Given the description of an element on the screen output the (x, y) to click on. 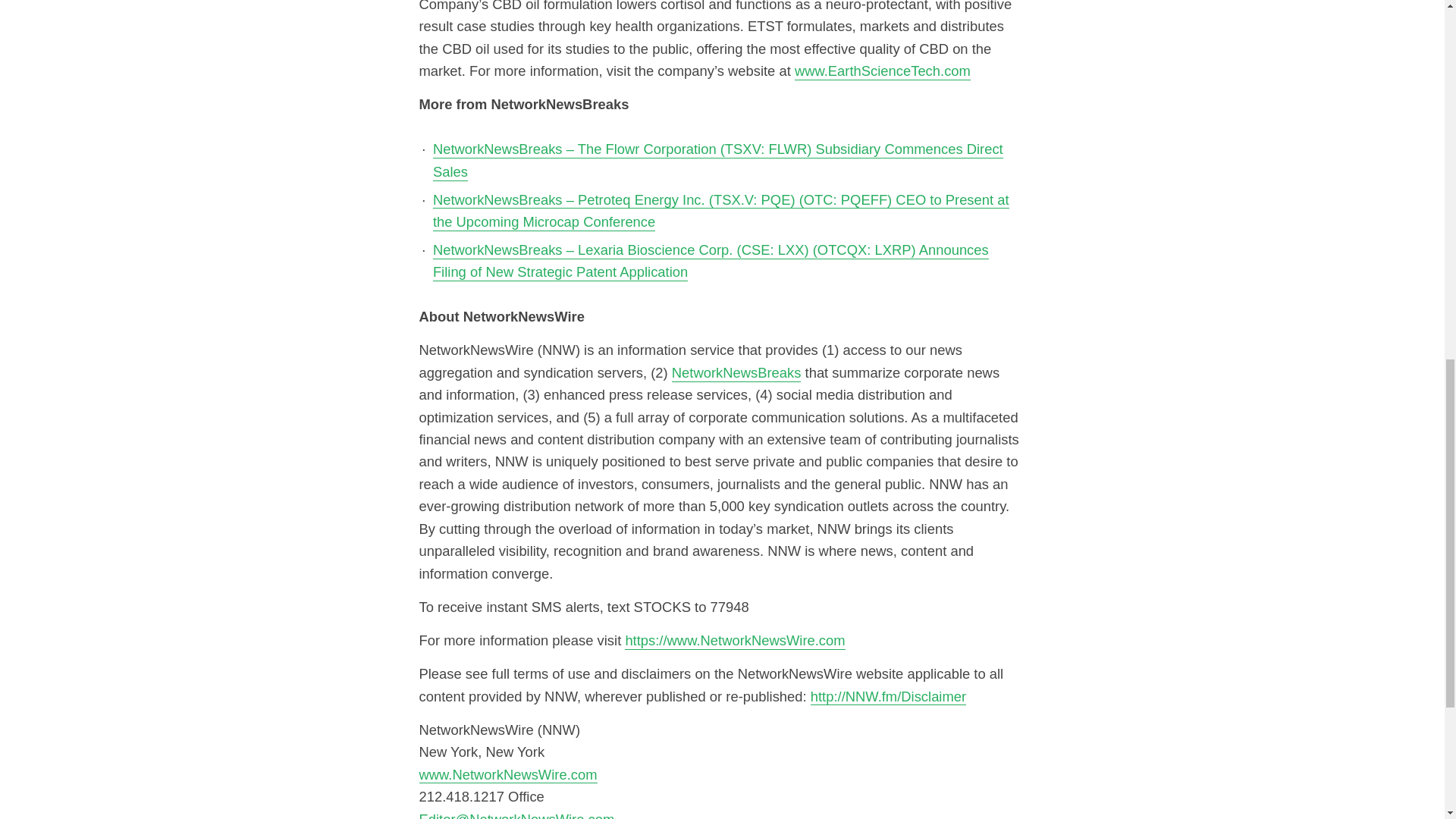
www.EarthScienceTech.com (882, 70)
NetworkNewsBreaks (736, 372)
www.NetworkNewsWire.com (507, 773)
